Given the description of an element on the screen output the (x, y) to click on. 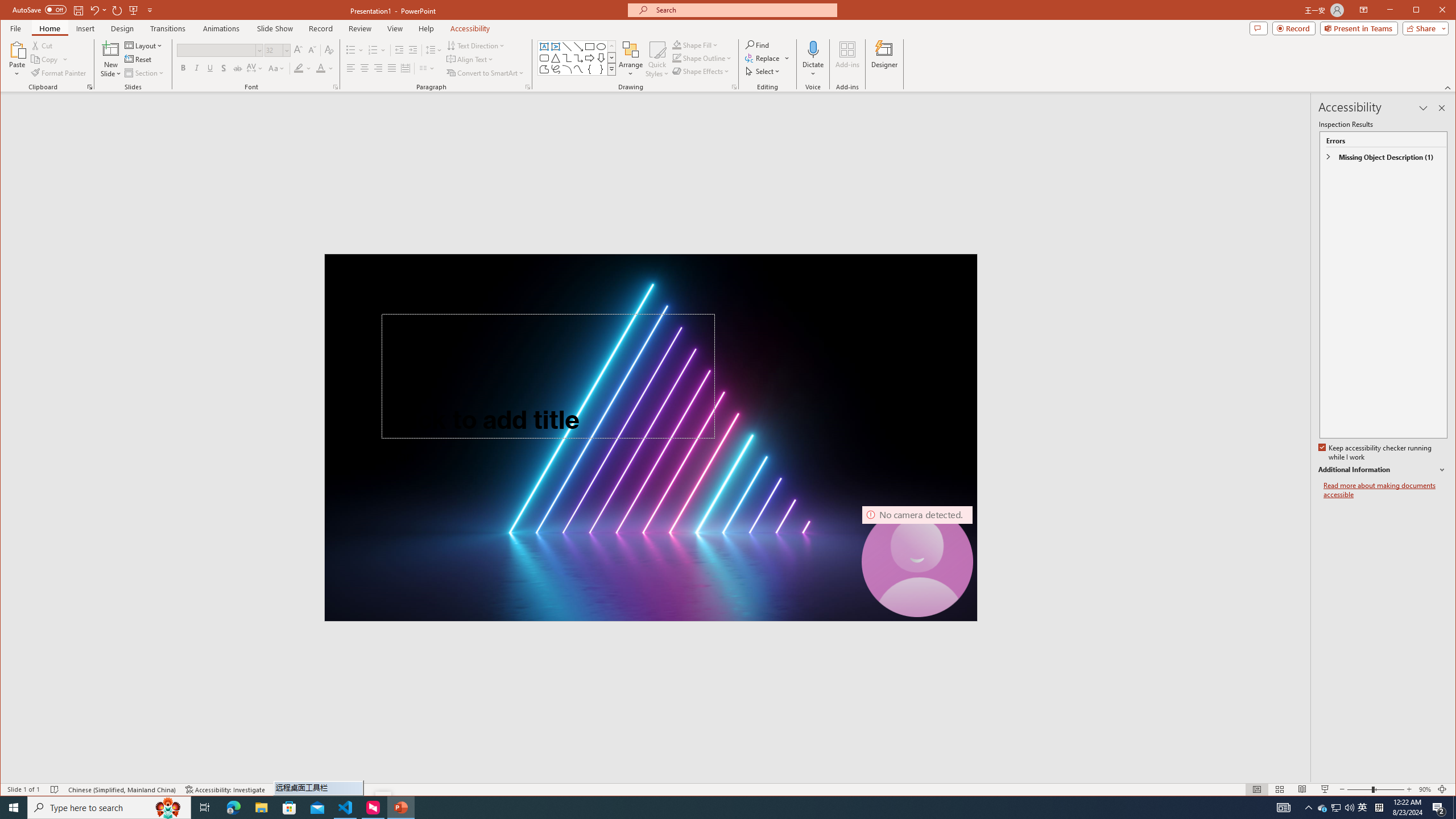
Line Arrow (577, 46)
Maximize (1432, 11)
Action Center, 2 new notifications (1439, 807)
Find... (758, 44)
Keep accessibility checker running while I work (1375, 452)
Office Clipboard... (89, 86)
Reset (138, 59)
